Given the description of an element on the screen output the (x, y) to click on. 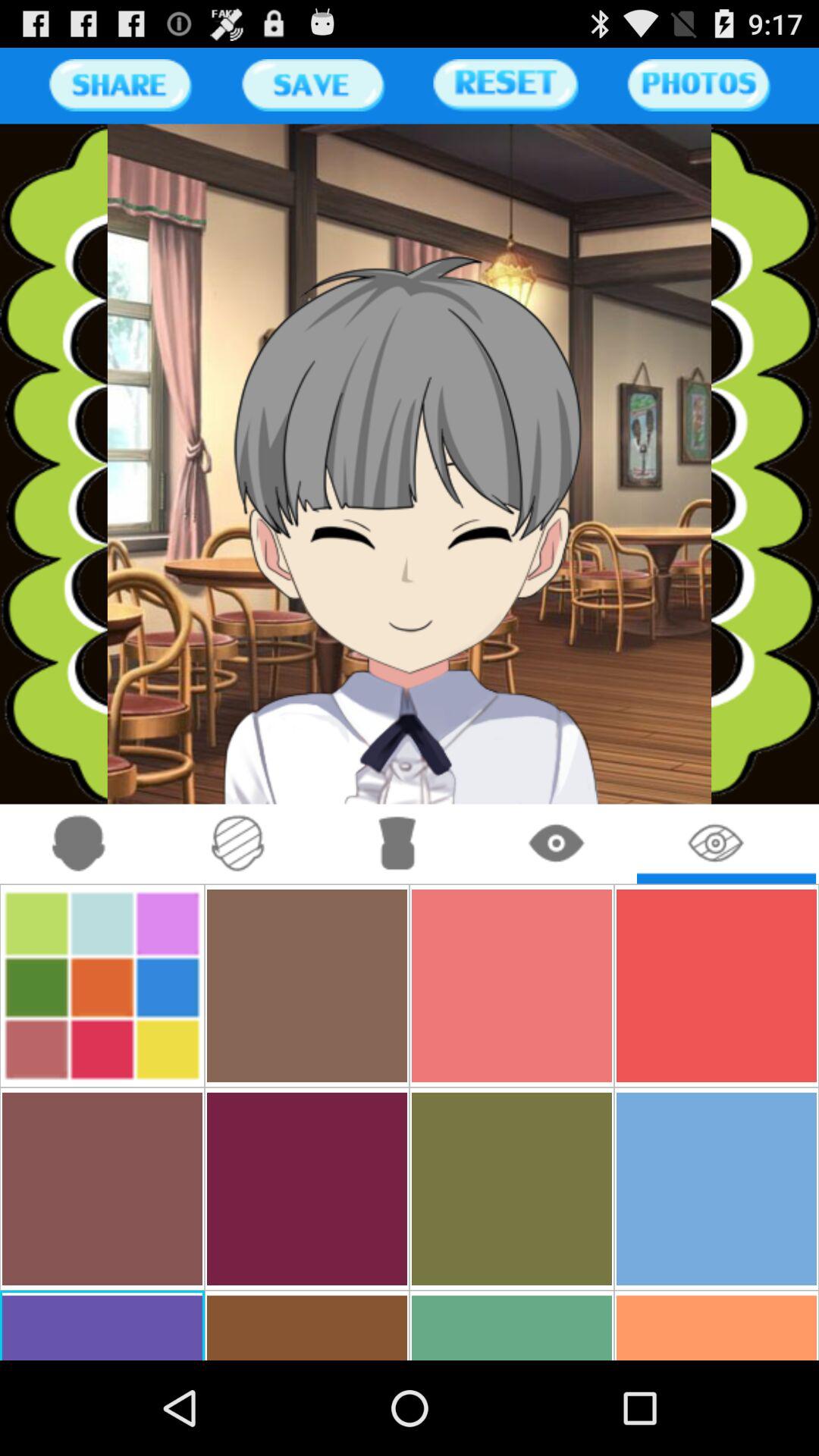
reset (505, 85)
